Given the description of an element on the screen output the (x, y) to click on. 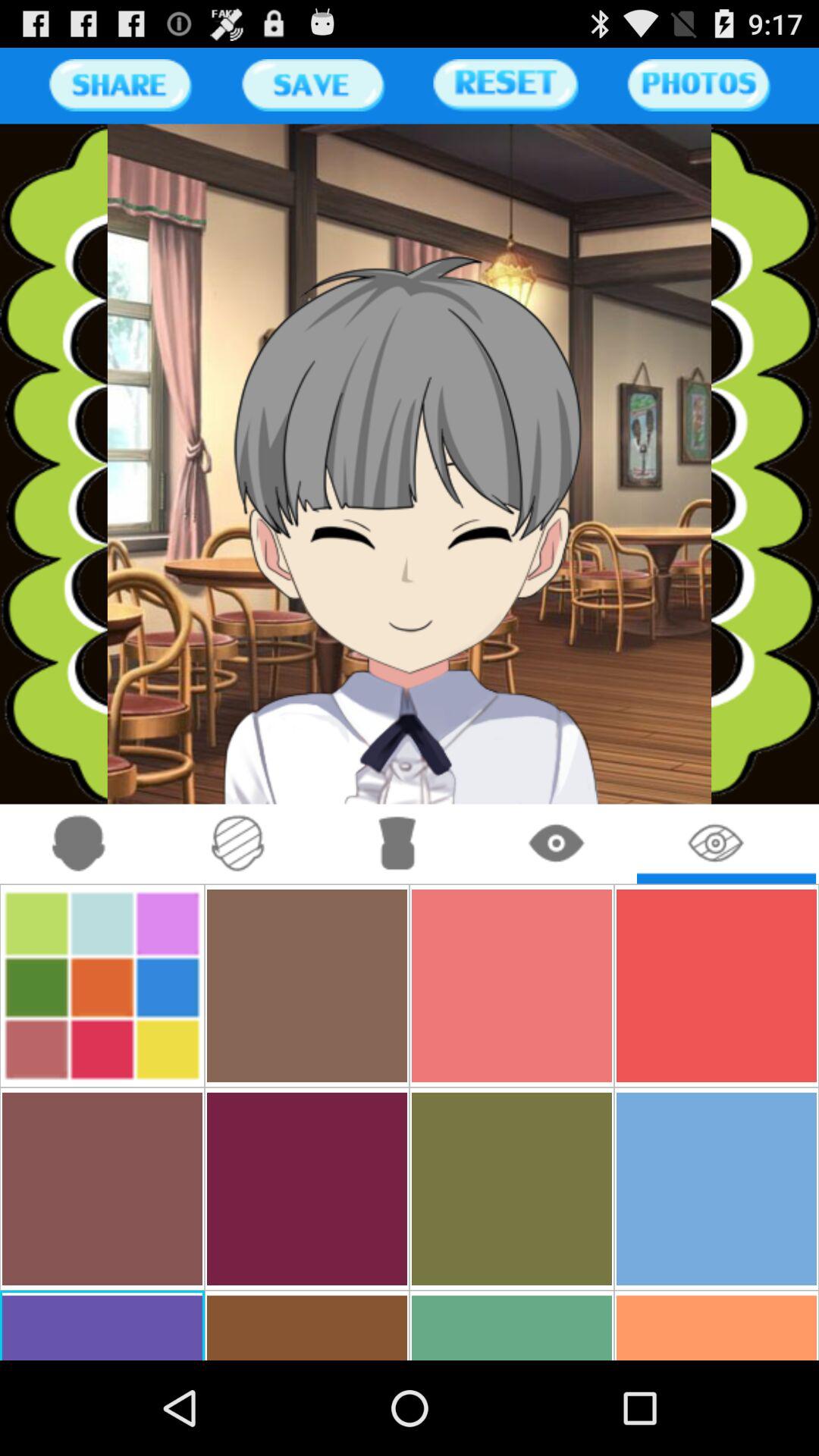
reset (505, 85)
